Given the description of an element on the screen output the (x, y) to click on. 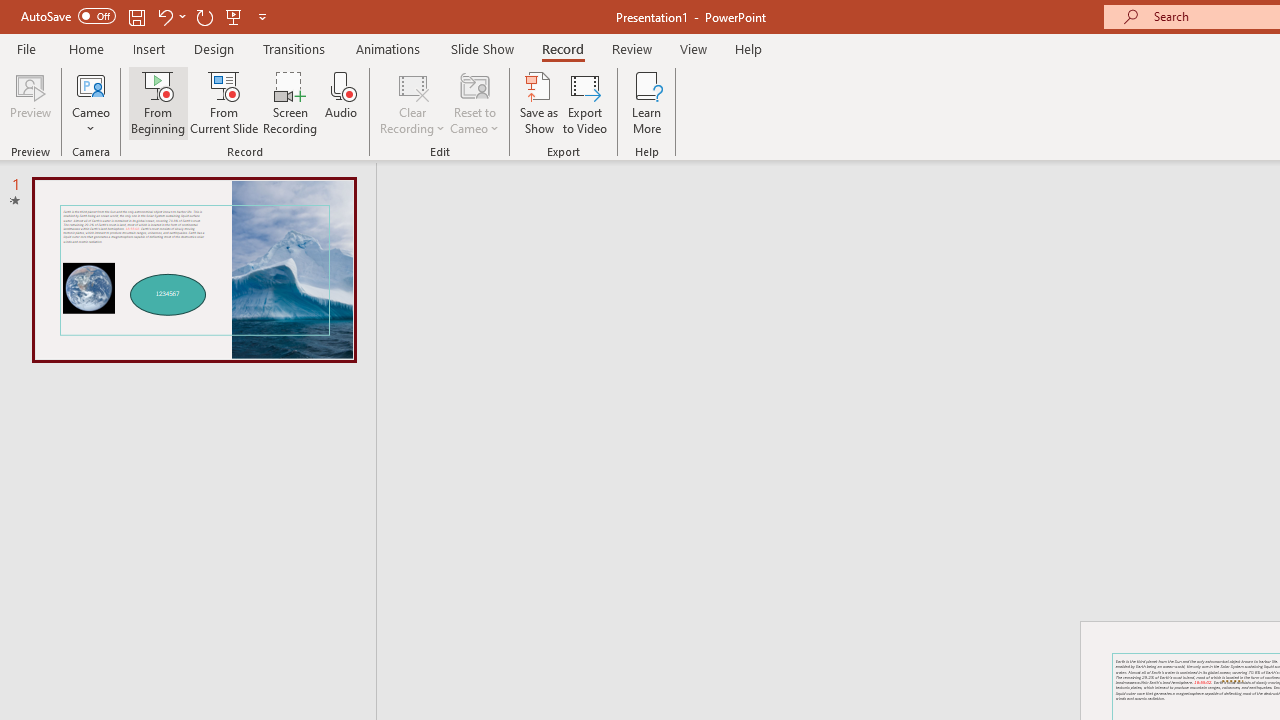
Save as Show (539, 102)
